Given the description of an element on the screen output the (x, y) to click on. 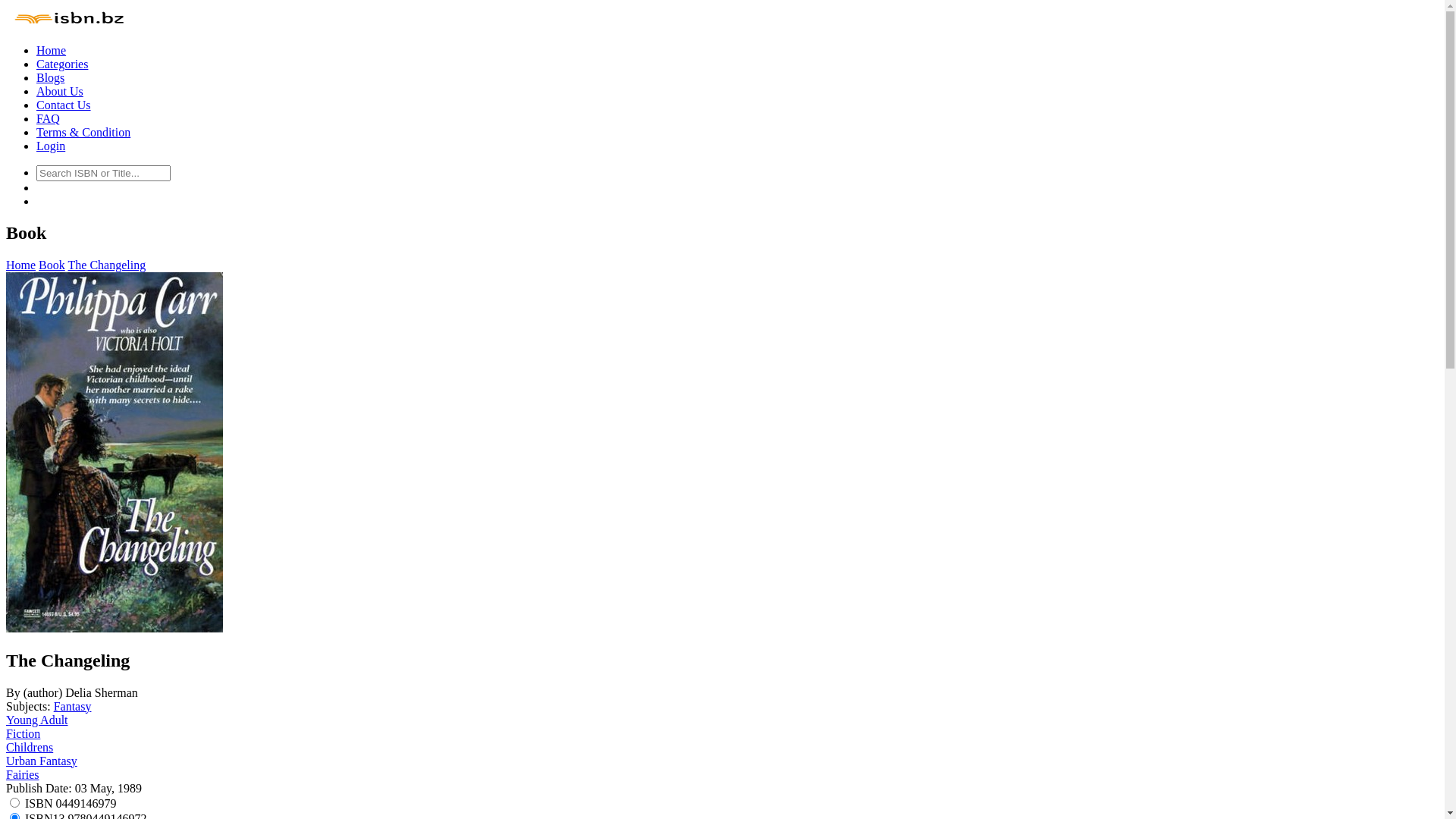
Home Element type: text (50, 49)
Terms & Condition Element type: text (83, 131)
Young Adult Element type: text (37, 719)
Book Element type: text (51, 264)
Categories Element type: text (61, 63)
Childrens Element type: text (29, 746)
About Us Element type: text (59, 90)
Login Element type: text (50, 145)
Urban Fantasy Element type: text (41, 760)
Fantasy Element type: text (72, 705)
Home Element type: text (20, 264)
Contact Us Element type: text (63, 104)
The Changeling Element type: text (107, 264)
Fiction Element type: text (23, 733)
Fairies Element type: text (22, 774)
Blogs Element type: text (50, 77)
FAQ Element type: text (47, 118)
